Given the description of an element on the screen output the (x, y) to click on. 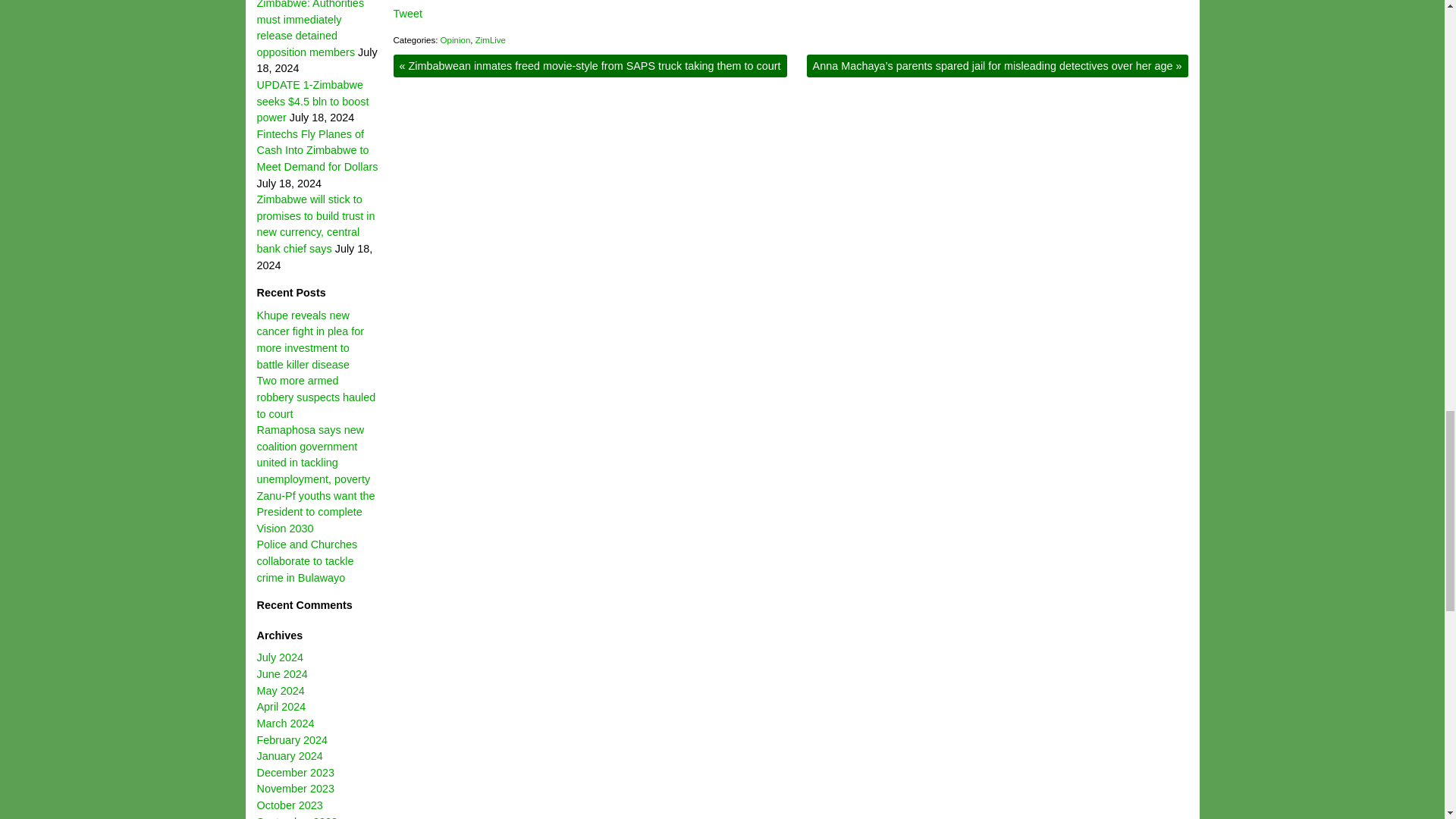
Opinion (455, 40)
Tweet (407, 13)
ZimLive (490, 40)
